Given the description of an element on the screen output the (x, y) to click on. 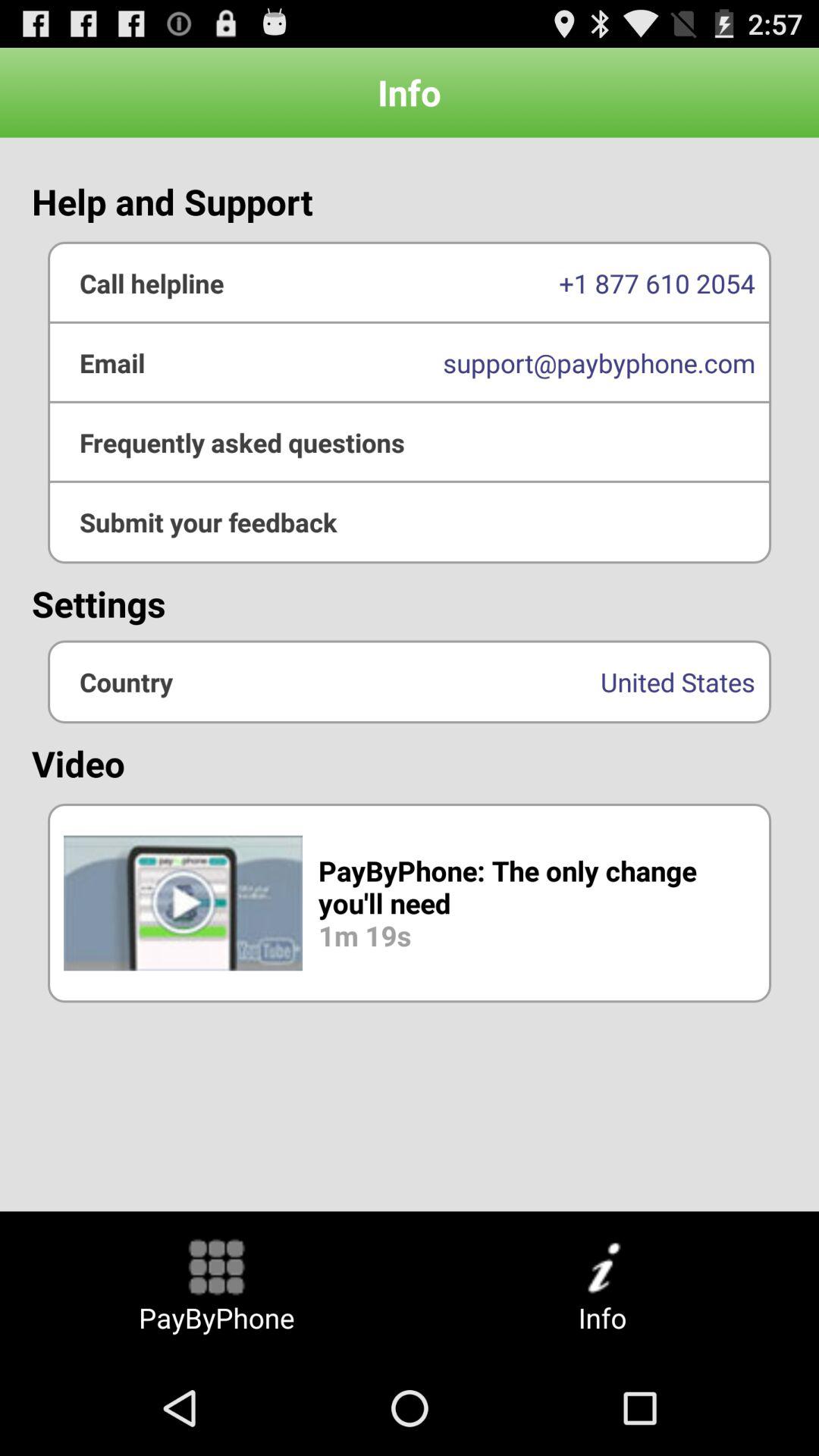
open the item below help and support app (409, 362)
